Given the description of an element on the screen output the (x, y) to click on. 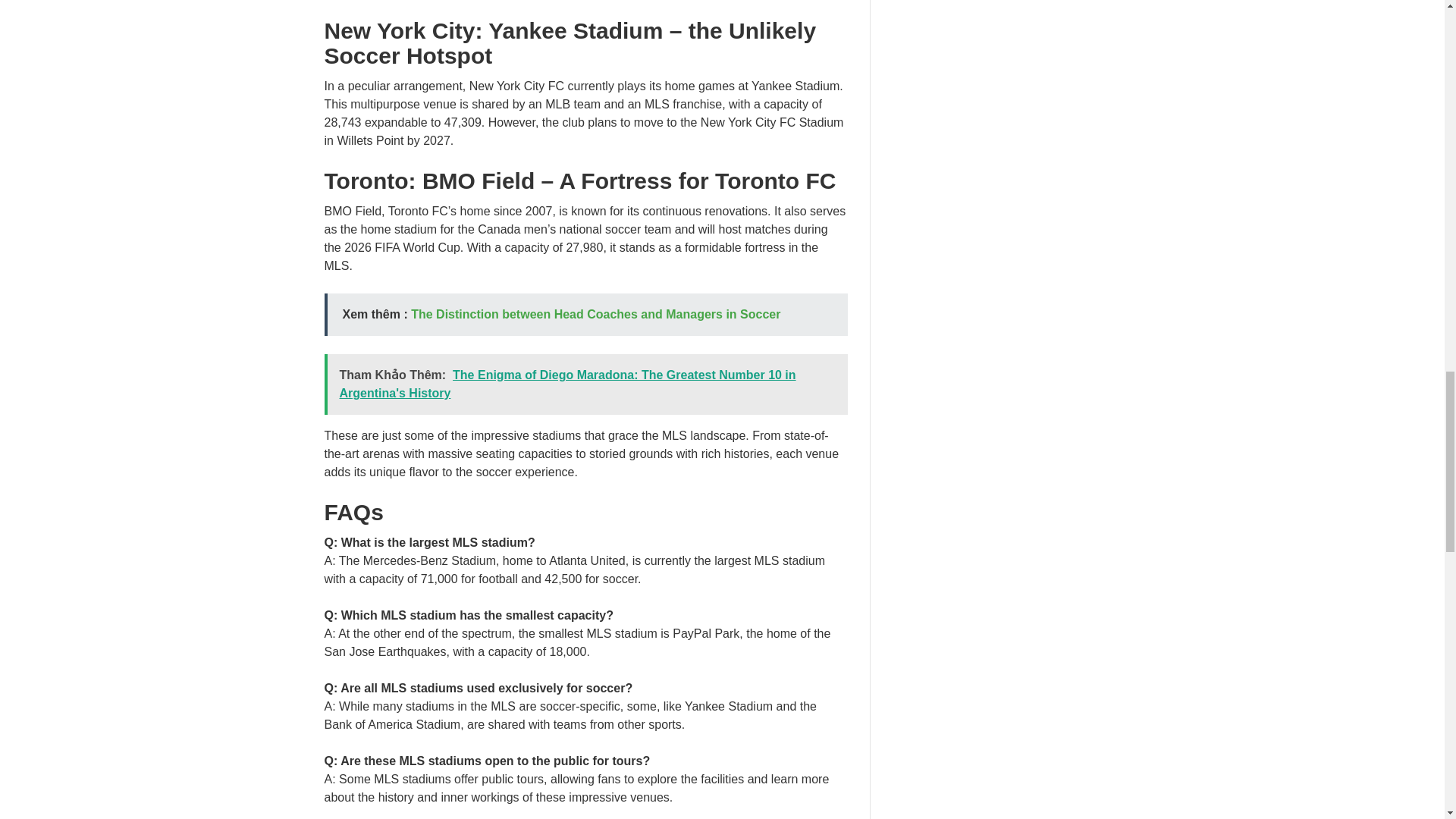
The Distinction between Head Coaches and Managers in Soccer (595, 314)
